Given the description of an element on the screen output the (x, y) to click on. 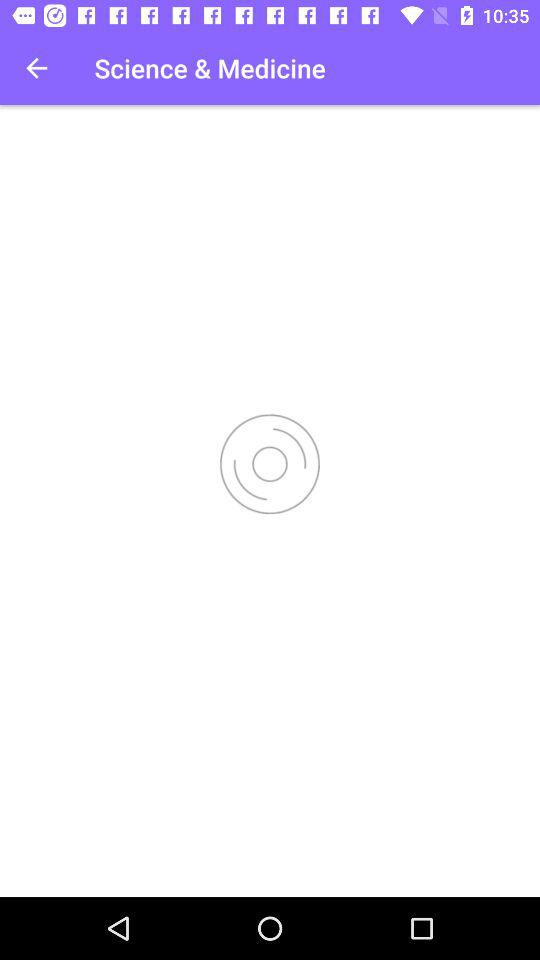
tap the item at the top left corner (36, 68)
